Given the description of an element on the screen output the (x, y) to click on. 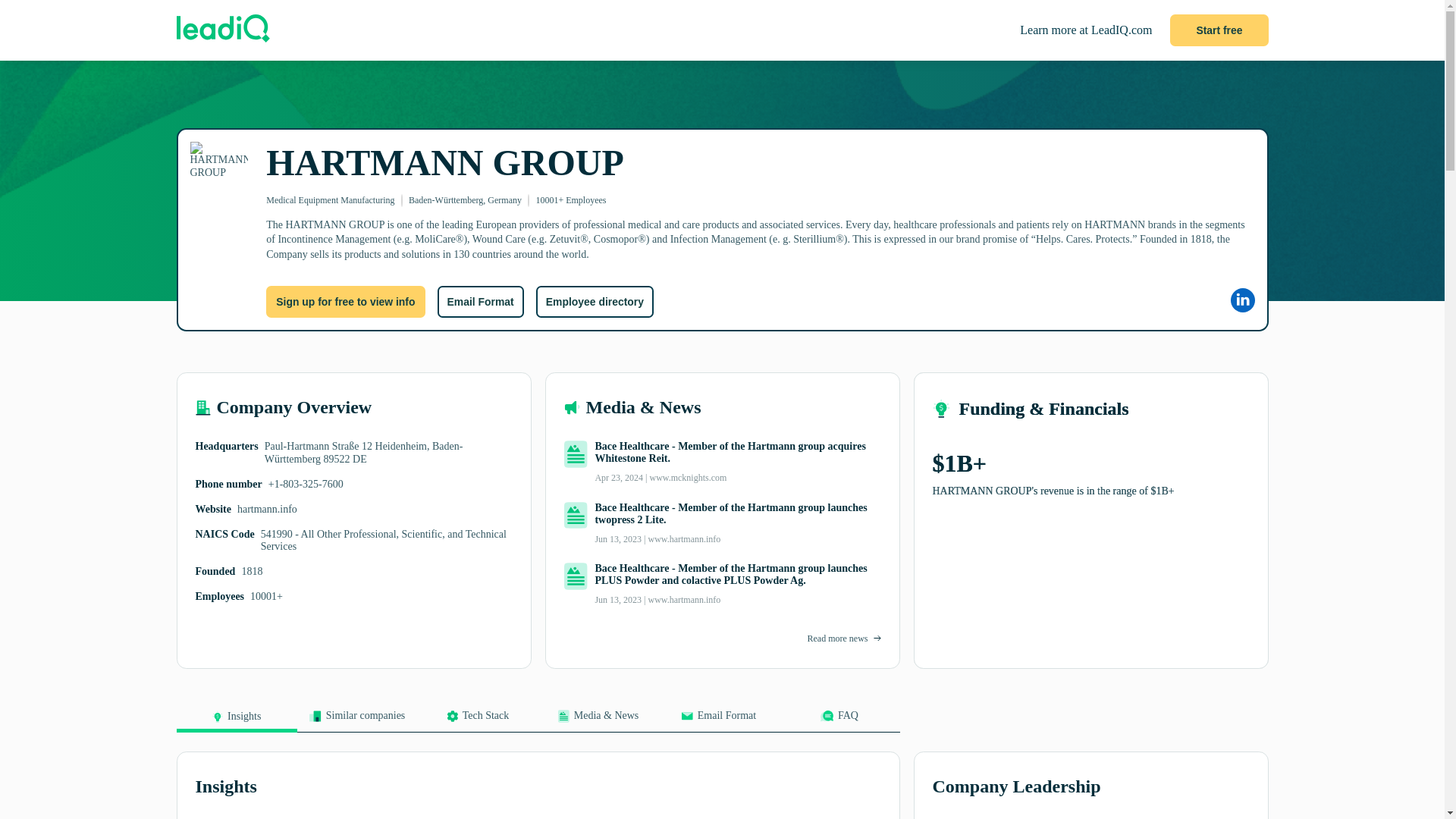
FAQ (838, 720)
Start free (1219, 29)
Learn more at LeadIQ.com (1085, 29)
Email Format (718, 720)
hartmann.info (267, 509)
Tech Stack (476, 720)
Insights (236, 721)
Read more news (837, 638)
Employee directory (594, 301)
Similar companies (357, 720)
